Given the description of an element on the screen output the (x, y) to click on. 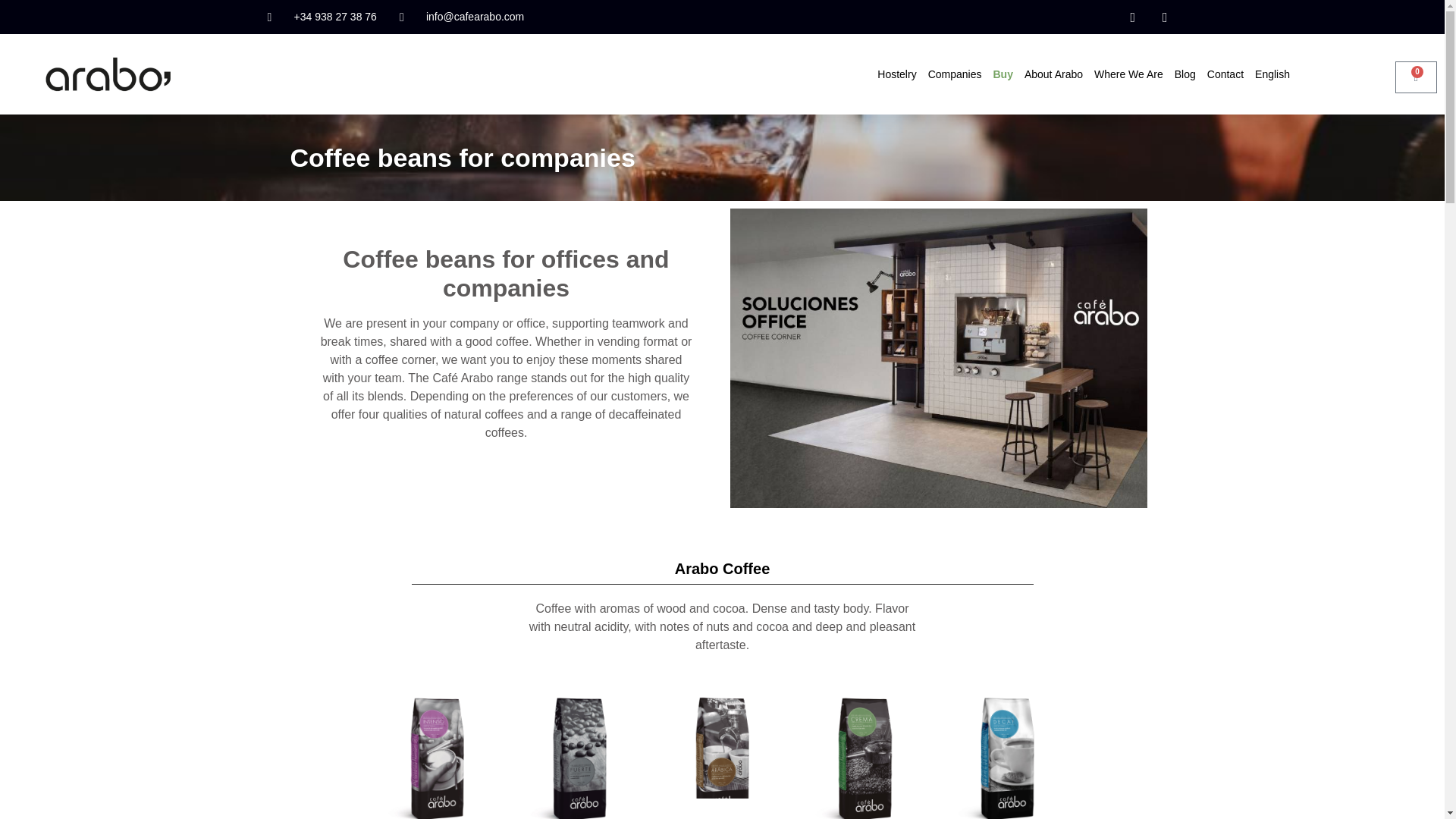
About Arabo (1054, 73)
English (1272, 73)
Hostelry (896, 73)
Companies (954, 73)
Where We Are (1128, 73)
